Given the description of an element on the screen output the (x, y) to click on. 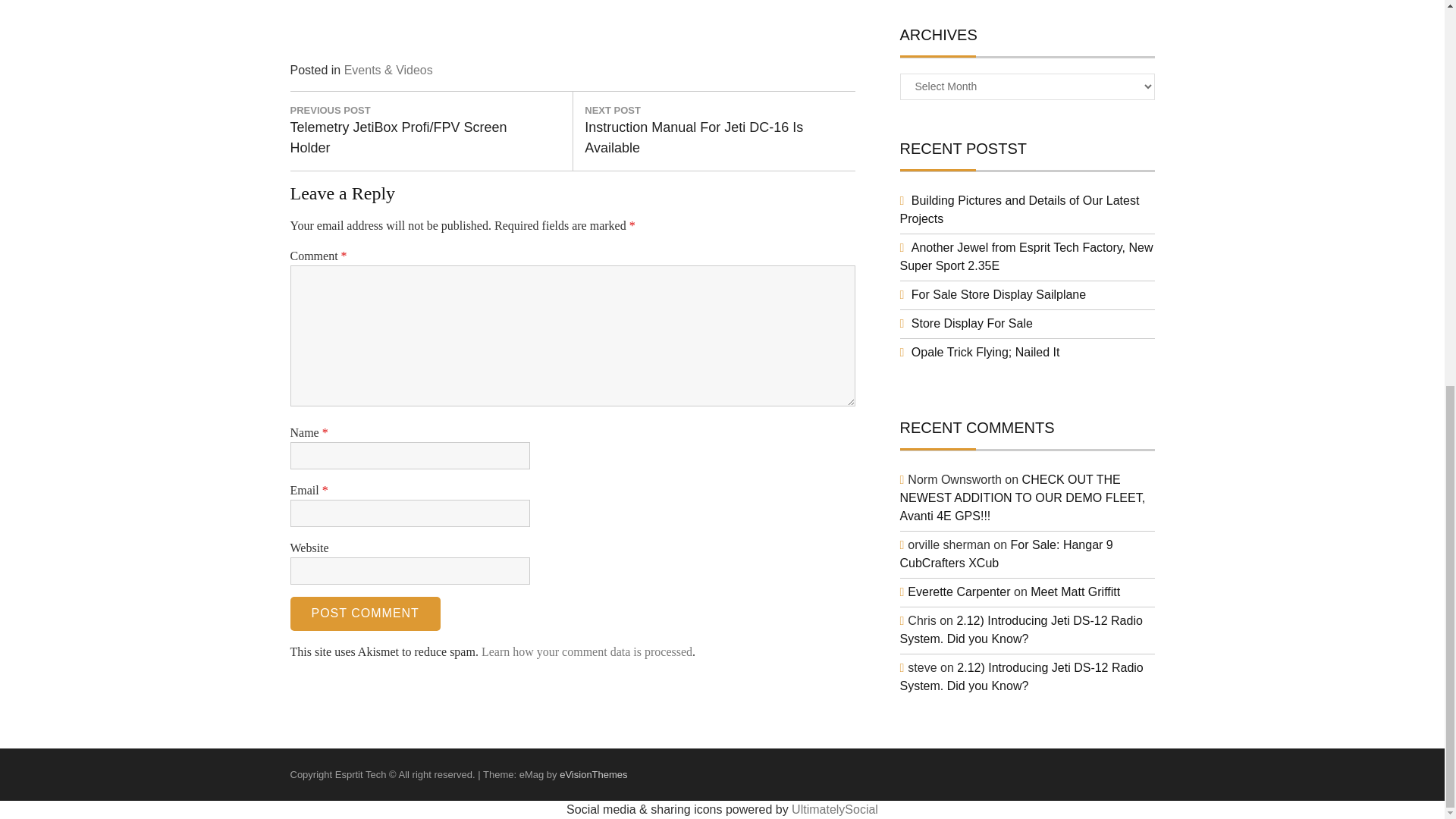
Post Comment (364, 613)
aerosente-newsletter (402, 22)
